Given the description of an element on the screen output the (x, y) to click on. 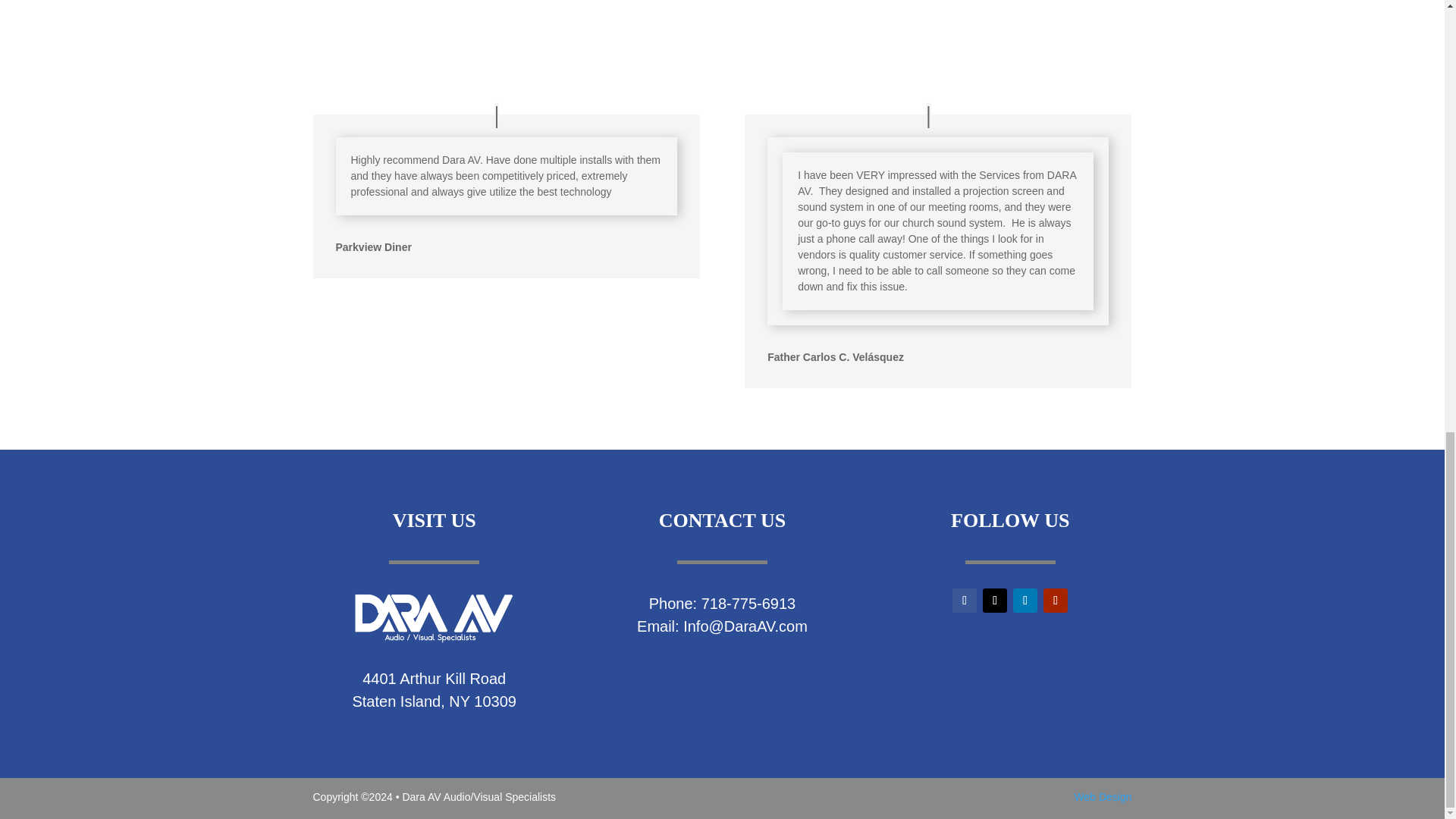
Follow on X (994, 600)
Follow on Youtube (1055, 600)
Follow on LinkedIn (1024, 600)
Web Design (1102, 797)
Follow on Facebook (964, 600)
Web Design (1102, 797)
